Given the description of an element on the screen output the (x, y) to click on. 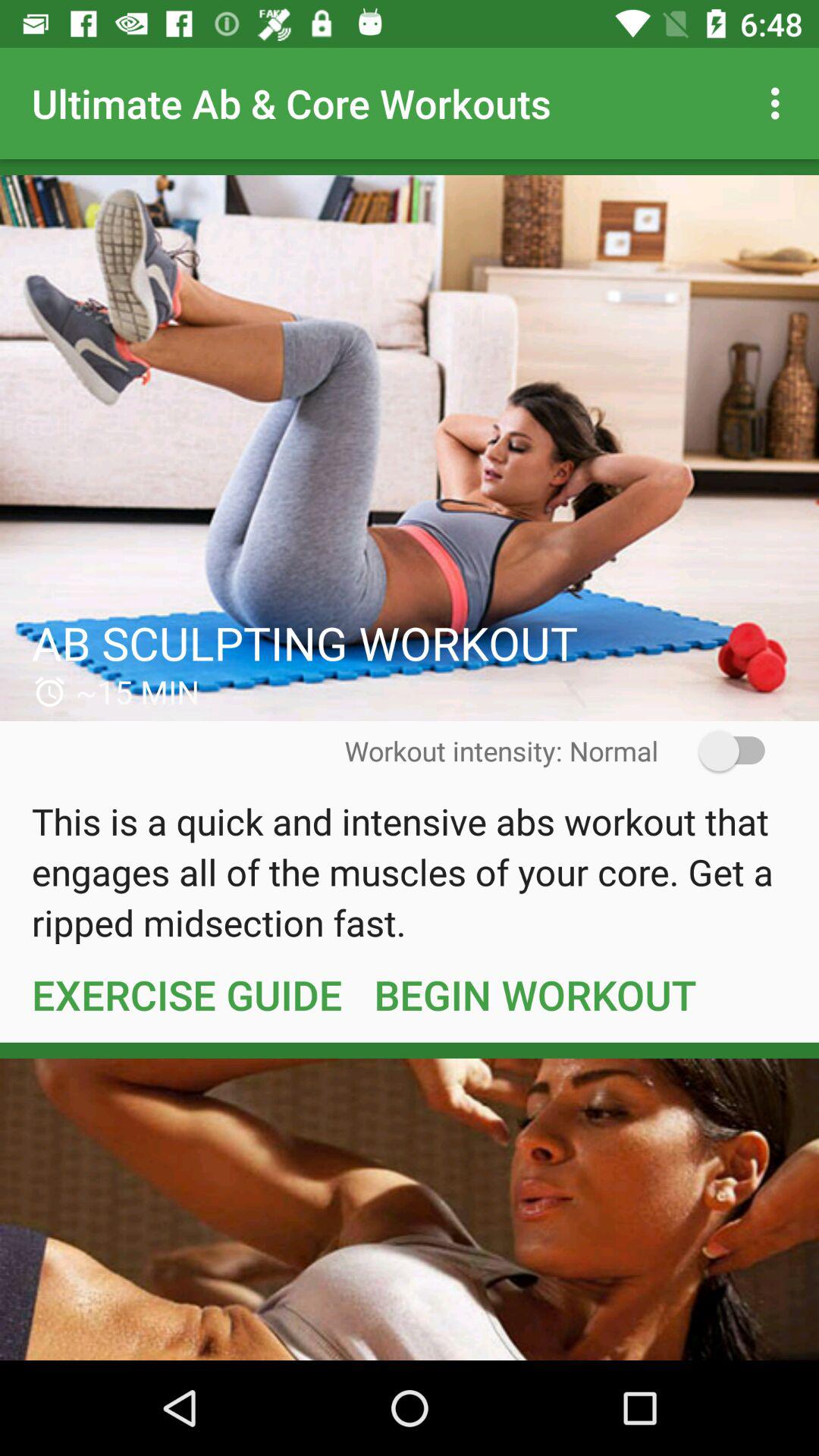
launch item next to exercise guide (535, 994)
